Given the description of an element on the screen output the (x, y) to click on. 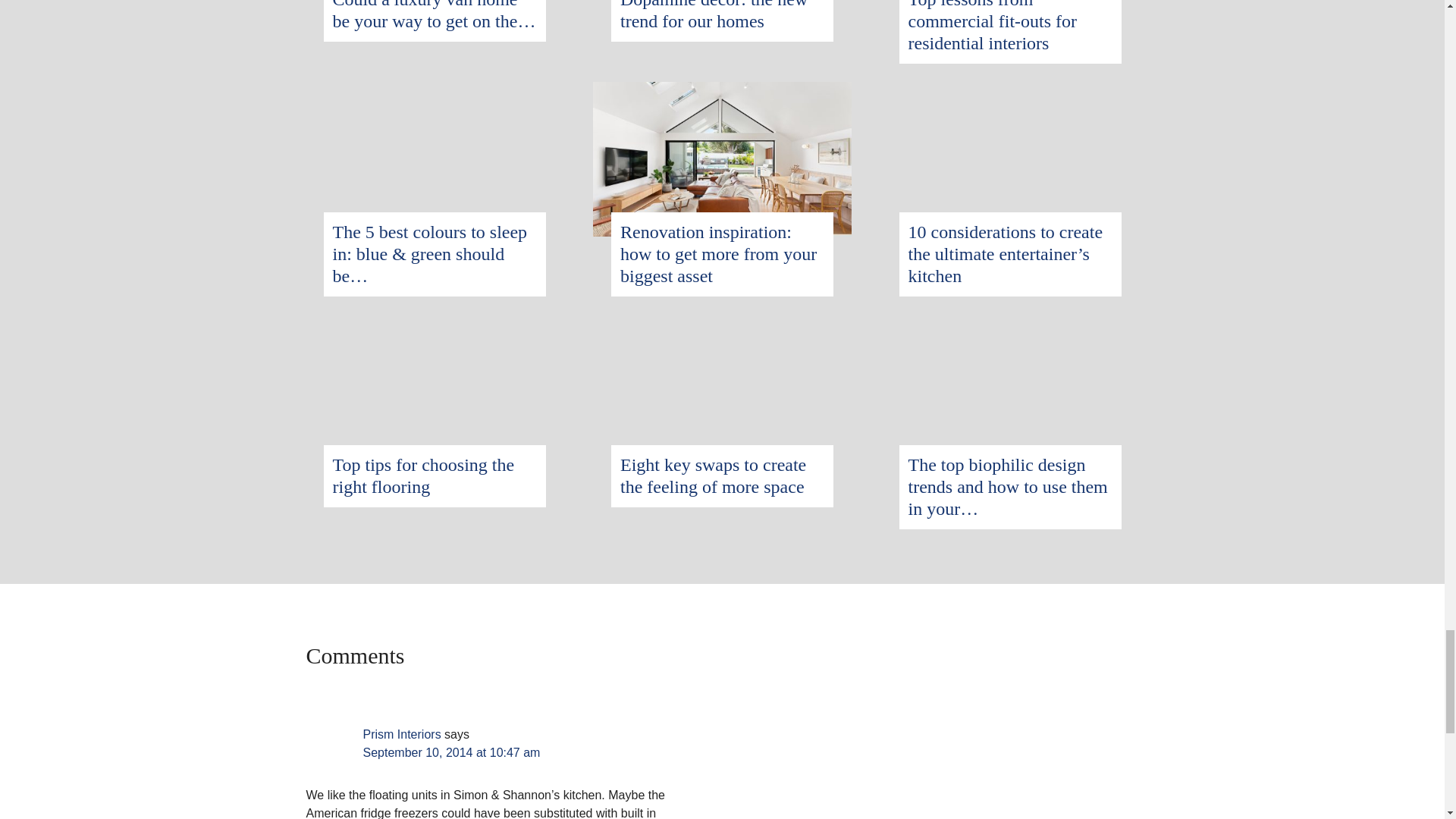
Dopamine decor: the new trend for our homes (714, 15)
